Given the description of an element on the screen output the (x, y) to click on. 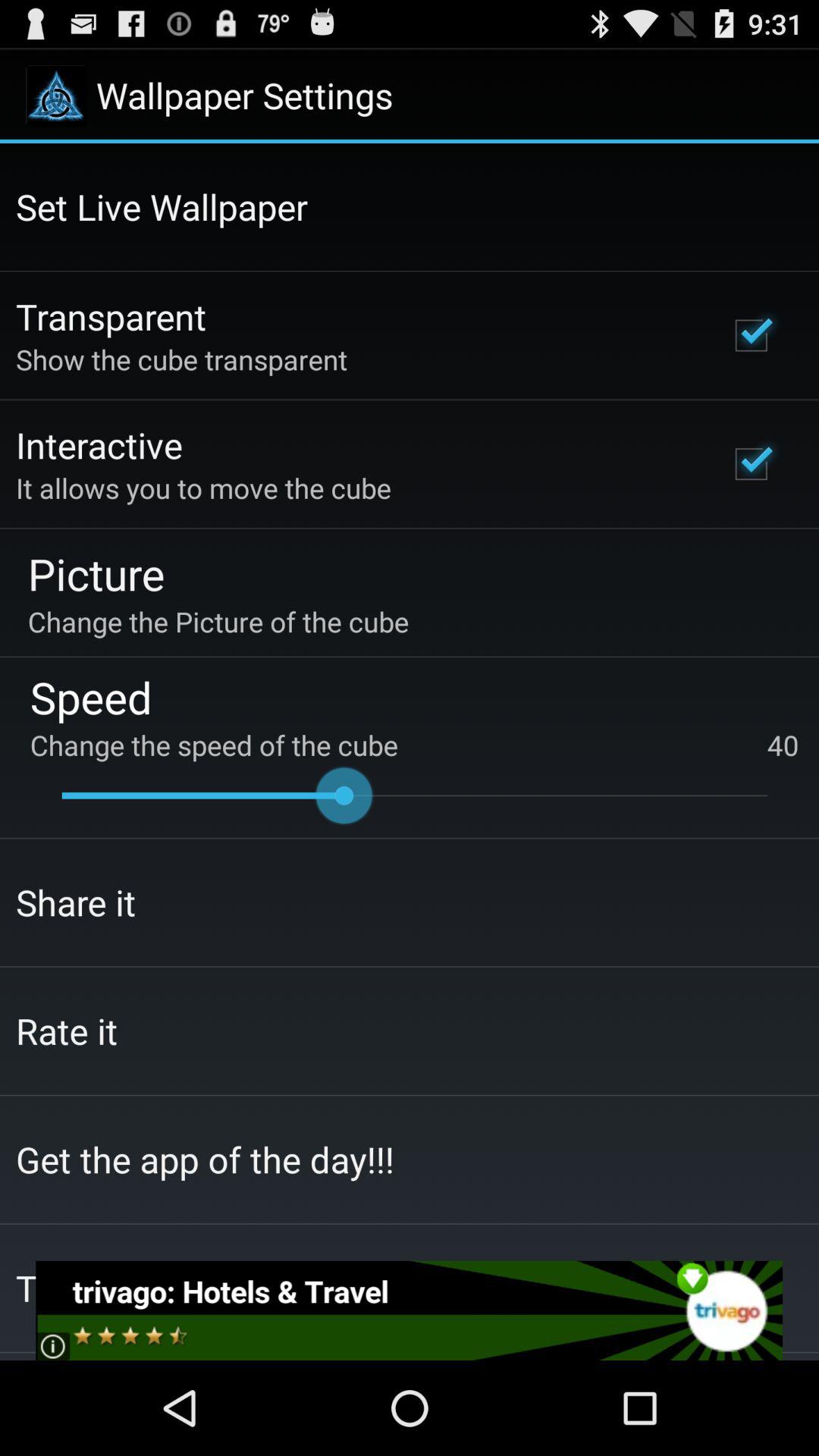
select the second star in advertisement (107, 1345)
